Given the description of an element on the screen output the (x, y) to click on. 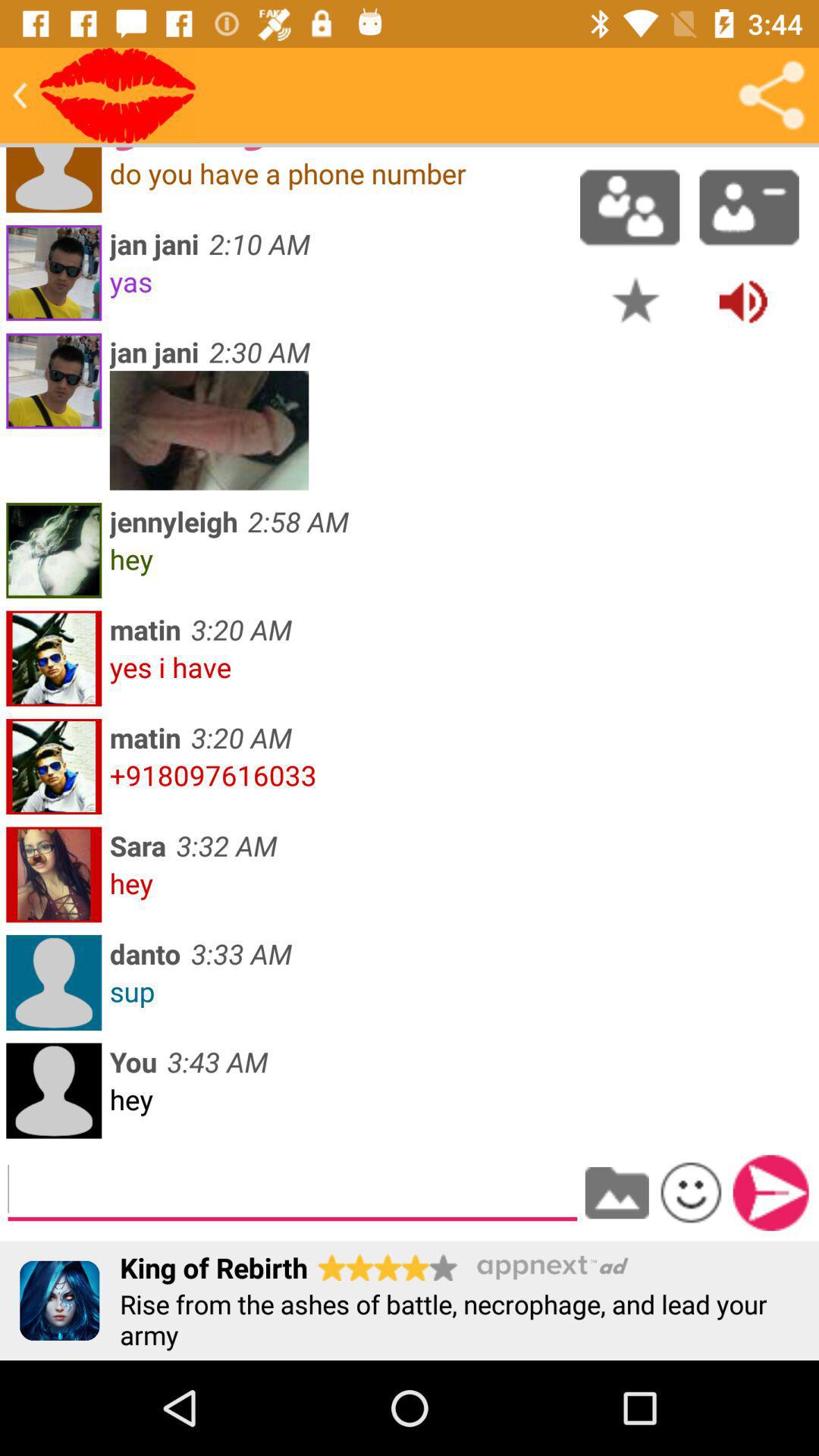
mute (743, 300)
